Given the description of an element on the screen output the (x, y) to click on. 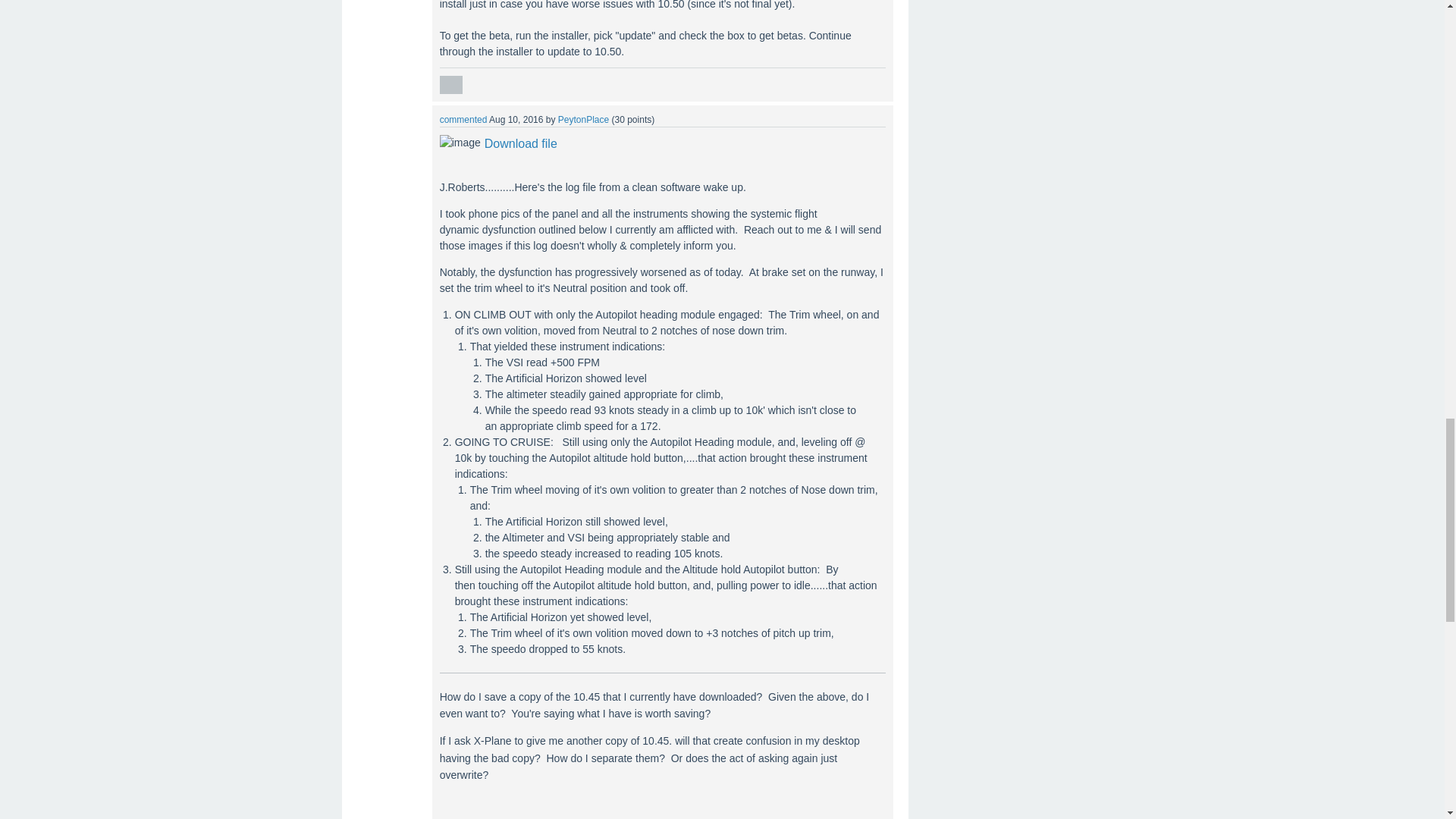
Reply to this comment (451, 85)
reply (451, 85)
